Given the description of an element on the screen output the (x, y) to click on. 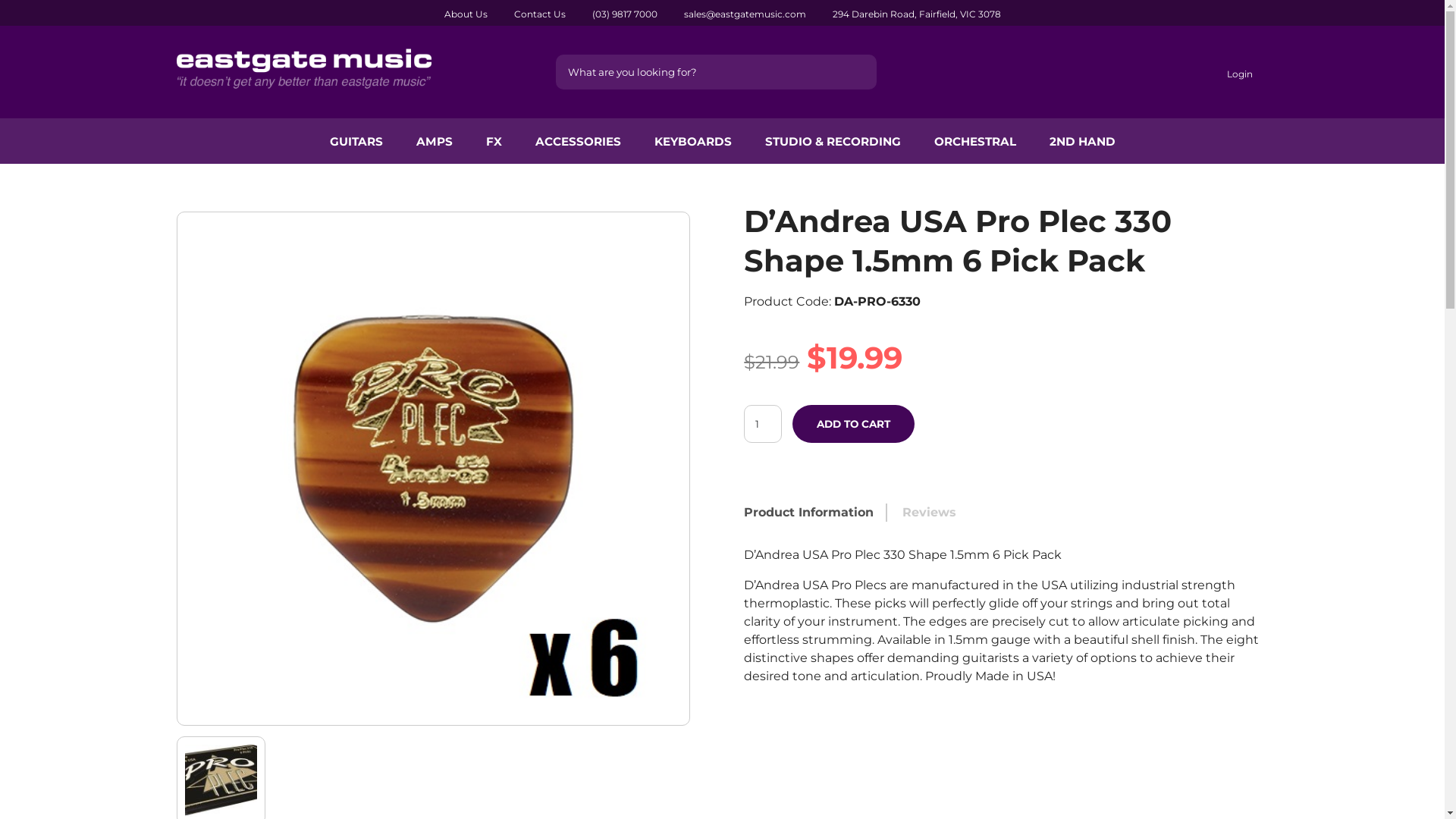
About Us Element type: text (465, 13)
AMPS Element type: text (433, 140)
sales@eastgatemusic.com Element type: text (745, 13)
GUITARS Element type: text (355, 140)
2ND HAND Element type: text (1082, 140)
Product Information Element type: text (808, 512)
Contact Us Element type: text (539, 13)
FX Element type: text (493, 140)
(03) 9817 7000 Element type: text (623, 13)
ADD TO CART Element type: text (853, 423)
KEYBOARDS Element type: text (692, 140)
PRO-330 Element type: hover (433, 467)
ACCESSORIES Element type: text (578, 140)
STUDIO & RECORDING Element type: text (832, 140)
Login Element type: text (1237, 73)
ORCHESTRAL Element type: text (975, 140)
294 Darebin Road, Fairfield, VIC 3078 Element type: text (916, 13)
Reviews Element type: text (929, 512)
